Given the description of an element on the screen output the (x, y) to click on. 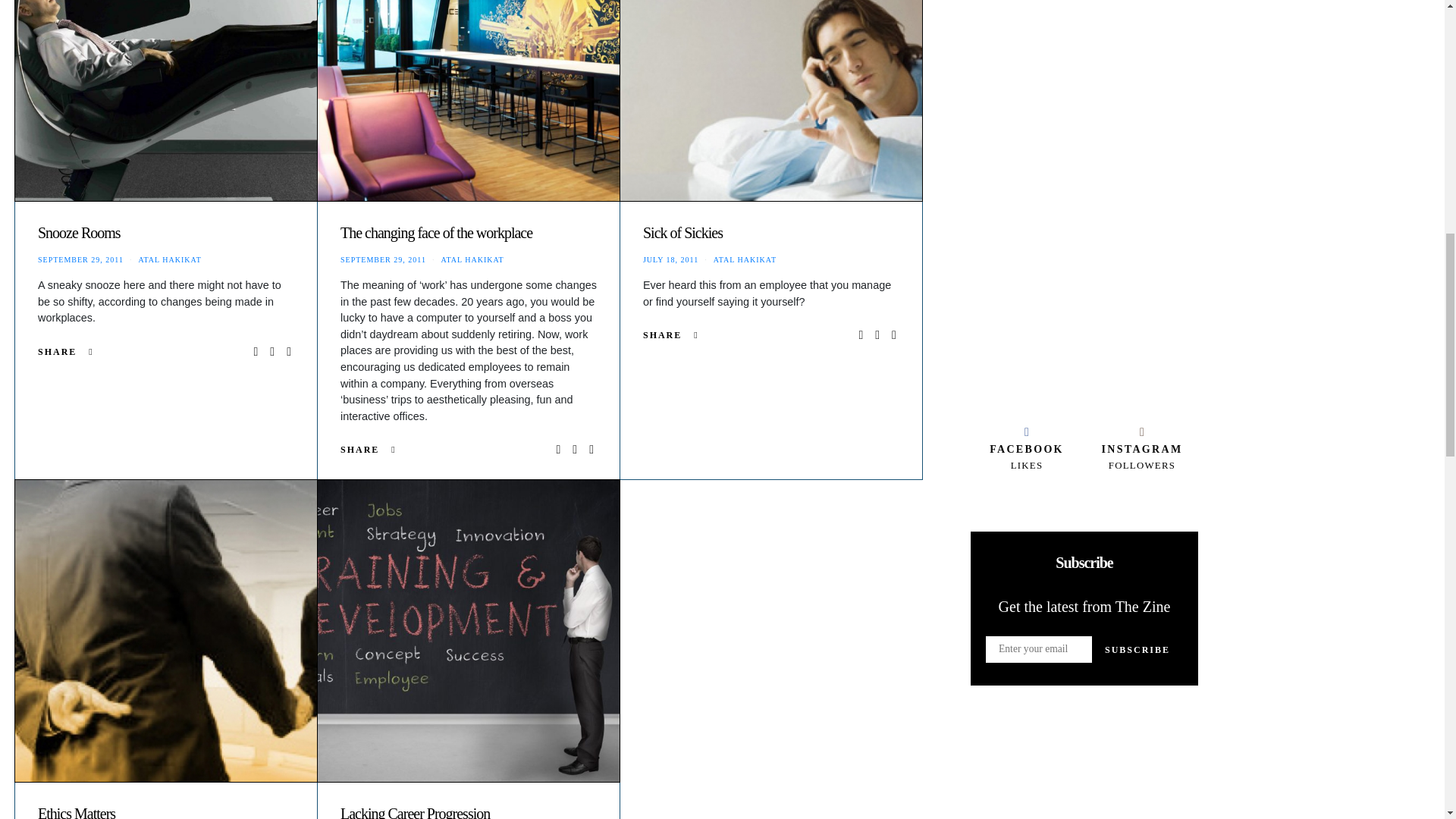
Snooze Rooms 4 (165, 100)
View all posts by Atal Hakikat (169, 259)
View all posts by Atal Hakikat (472, 259)
View all posts by Atal Hakikat (744, 259)
Lacking Career Progression 8 (468, 630)
Ethics Matters 7 (165, 630)
Sick of Sickies 6 (770, 100)
The changing face of the workplace 5 (468, 100)
